Given the description of an element on the screen output the (x, y) to click on. 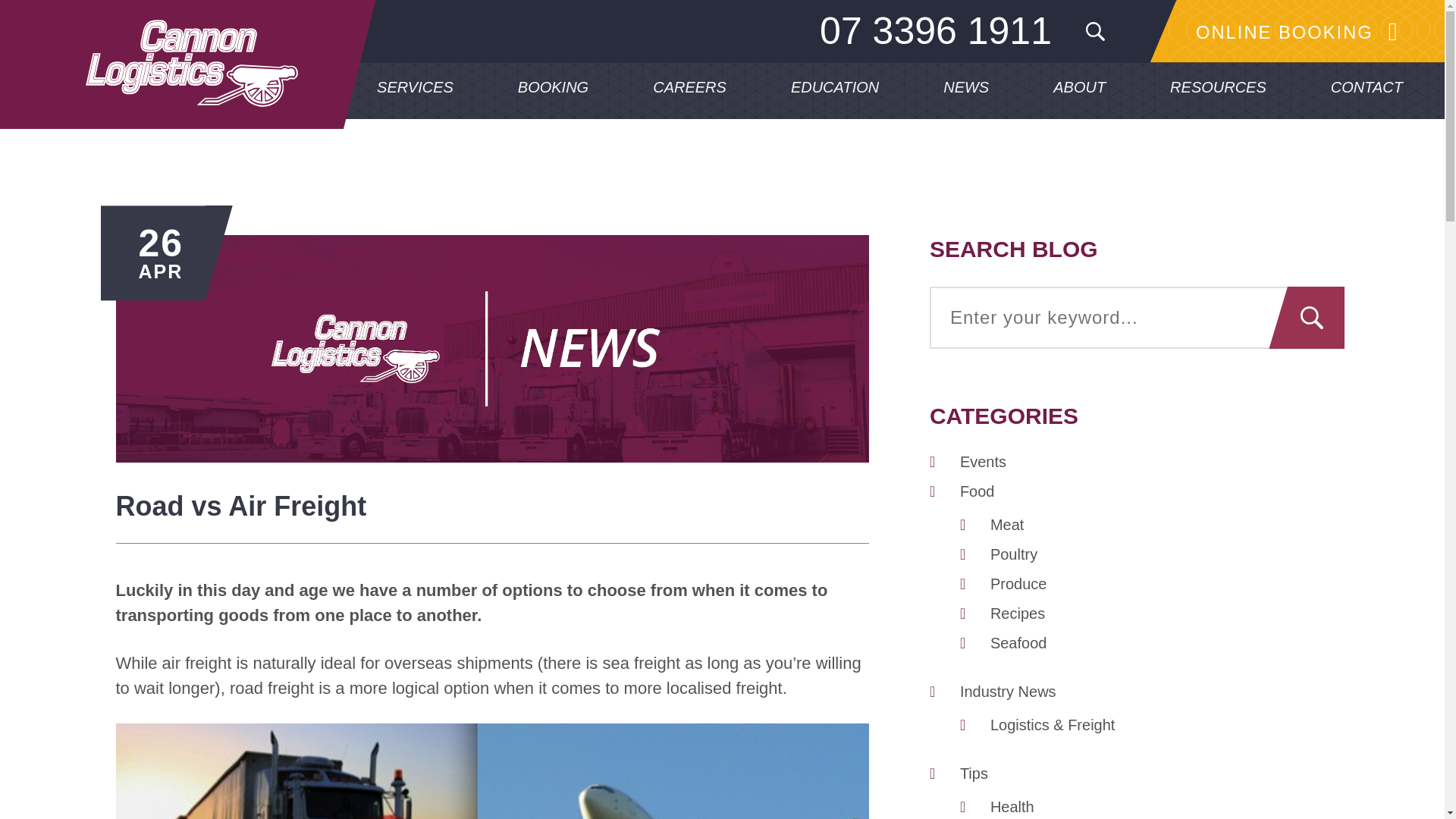
SERVICES (414, 89)
Search for: (1101, 31)
Search for: (1136, 317)
Health (1011, 806)
BOOKING (552, 89)
Go (1315, 317)
Meat (1006, 524)
RESOURCES (1218, 89)
Seafood (1018, 642)
Poultry (1013, 554)
